Given the description of an element on the screen output the (x, y) to click on. 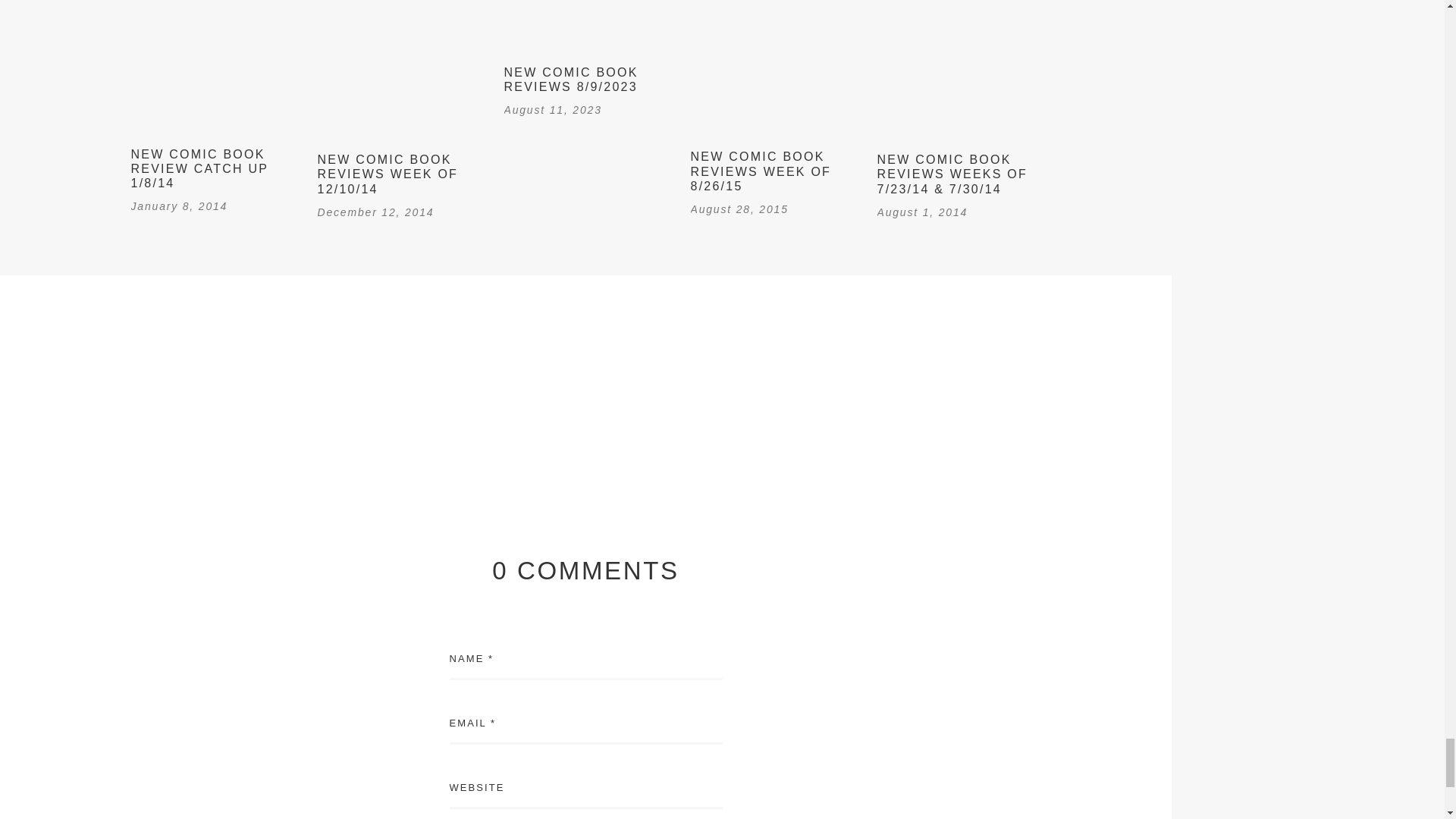
Long Beach Comic Expo 2016 (878, 388)
Kickstarter Watch: A Vampire In Hollywood (293, 388)
